Given the description of an element on the screen output the (x, y) to click on. 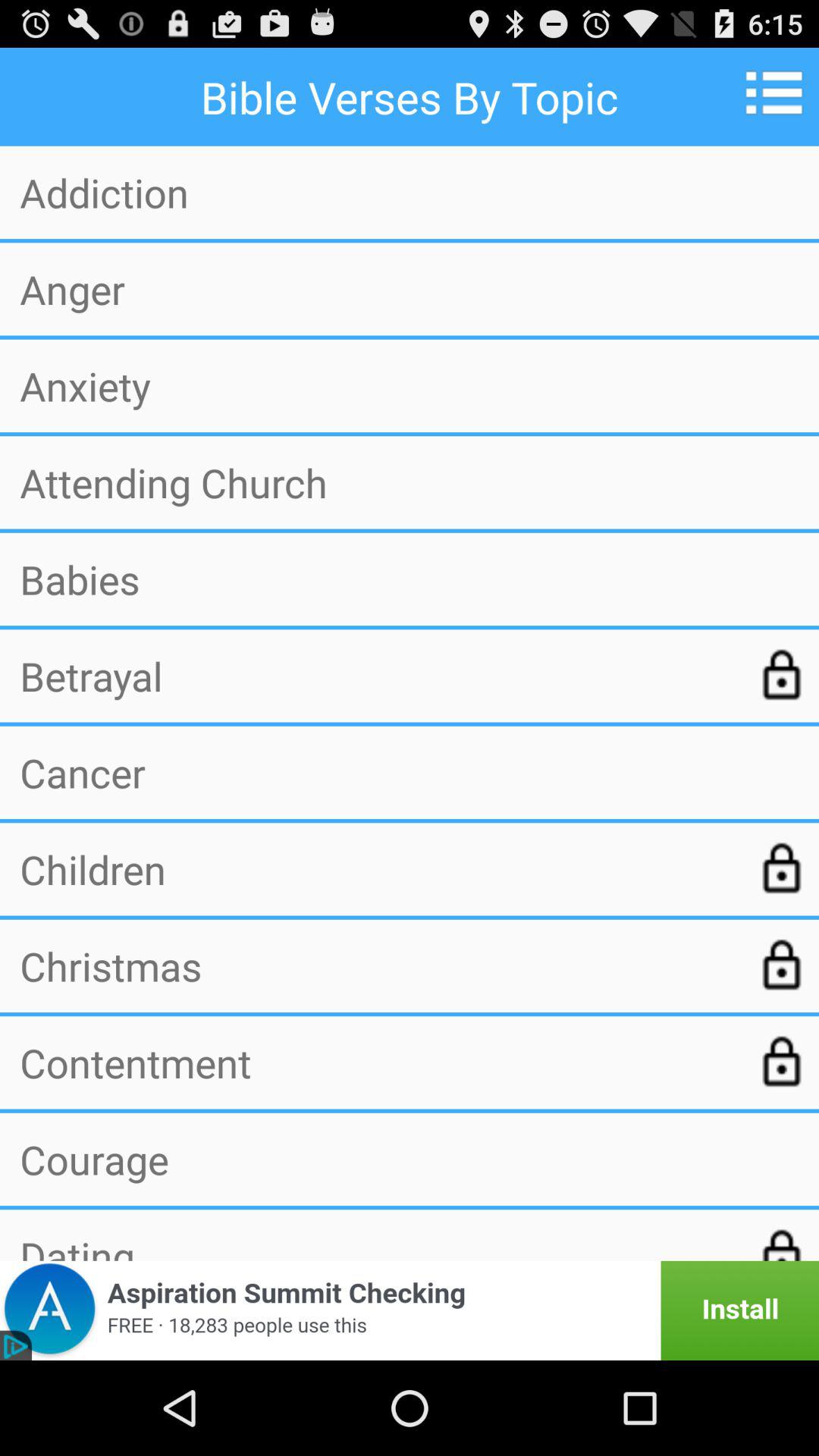
scroll until the betrayal item (376, 675)
